Given the description of an element on the screen output the (x, y) to click on. 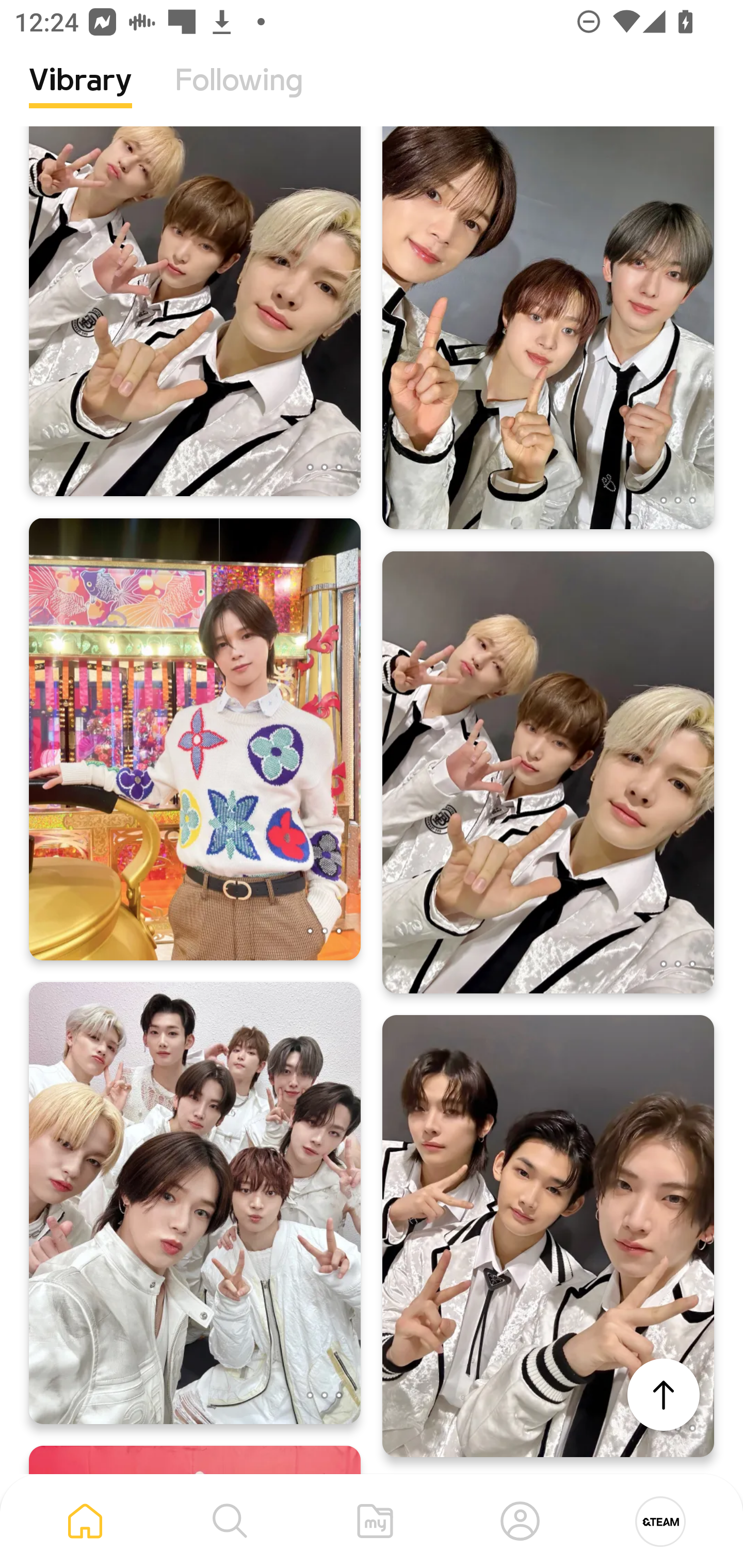
Vibrary (80, 95)
Following (239, 95)
